Given the description of an element on the screen output the (x, y) to click on. 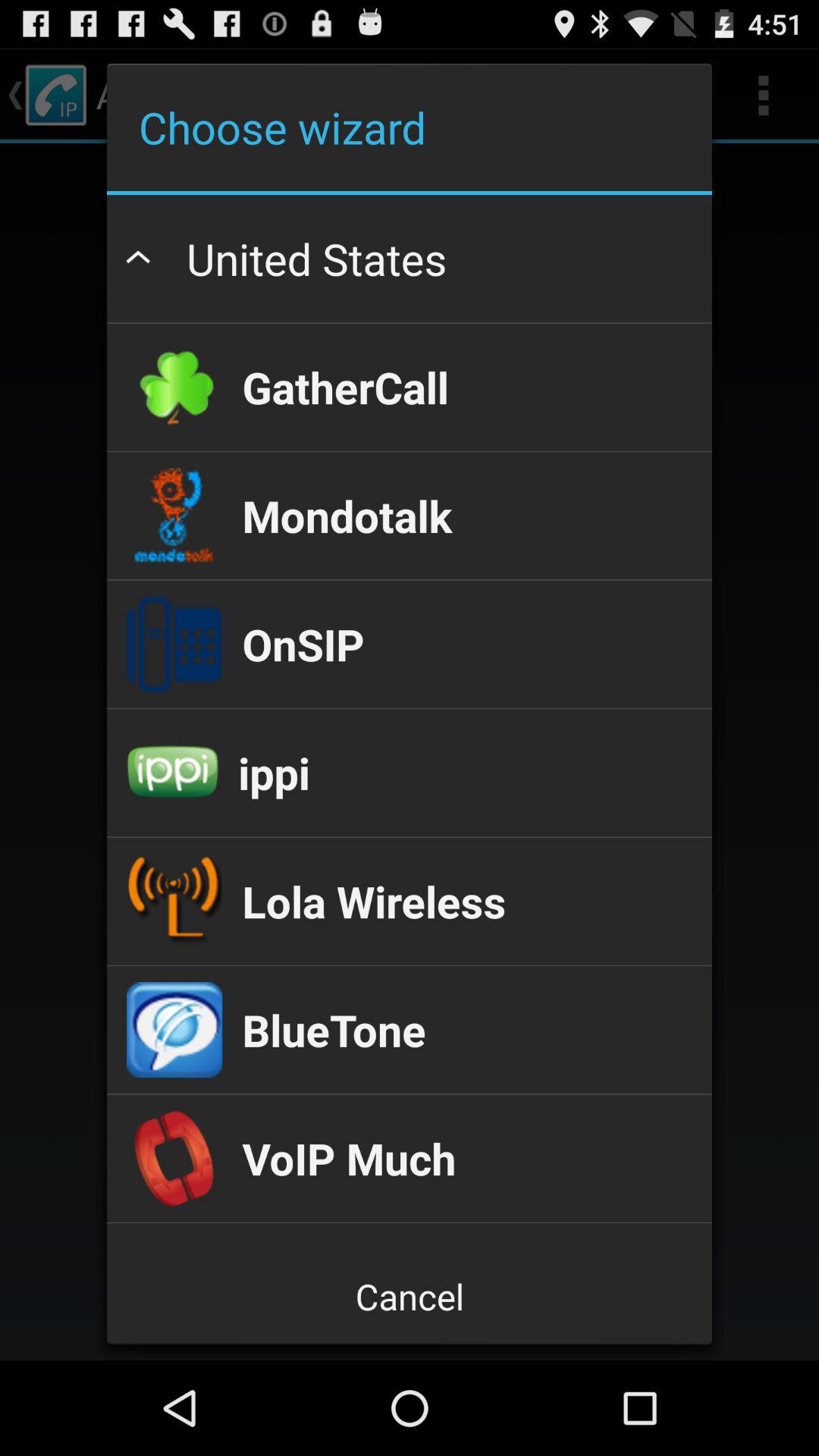
launch icon below voiptel mobile app (409, 1296)
